Given the description of an element on the screen output the (x, y) to click on. 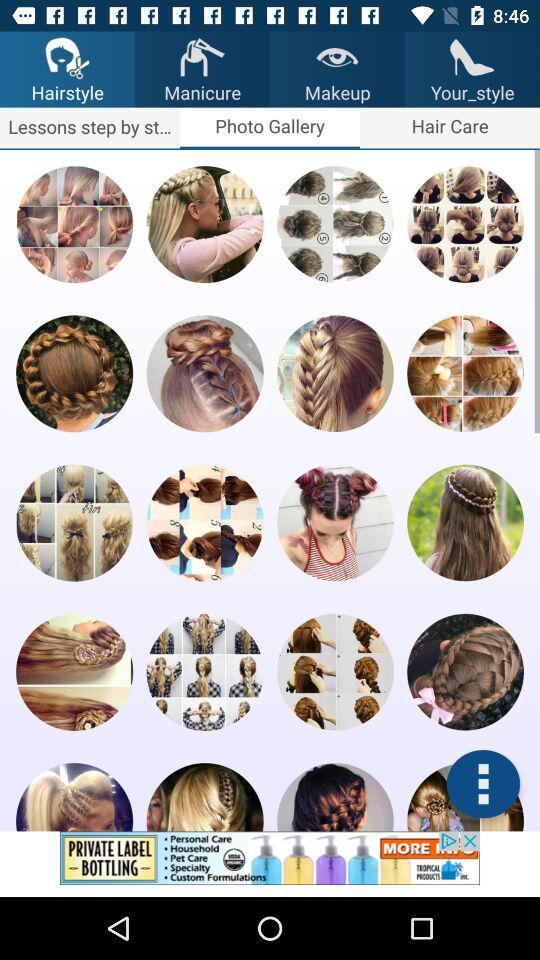
select hairstyle (465, 671)
